Given the description of an element on the screen output the (x, y) to click on. 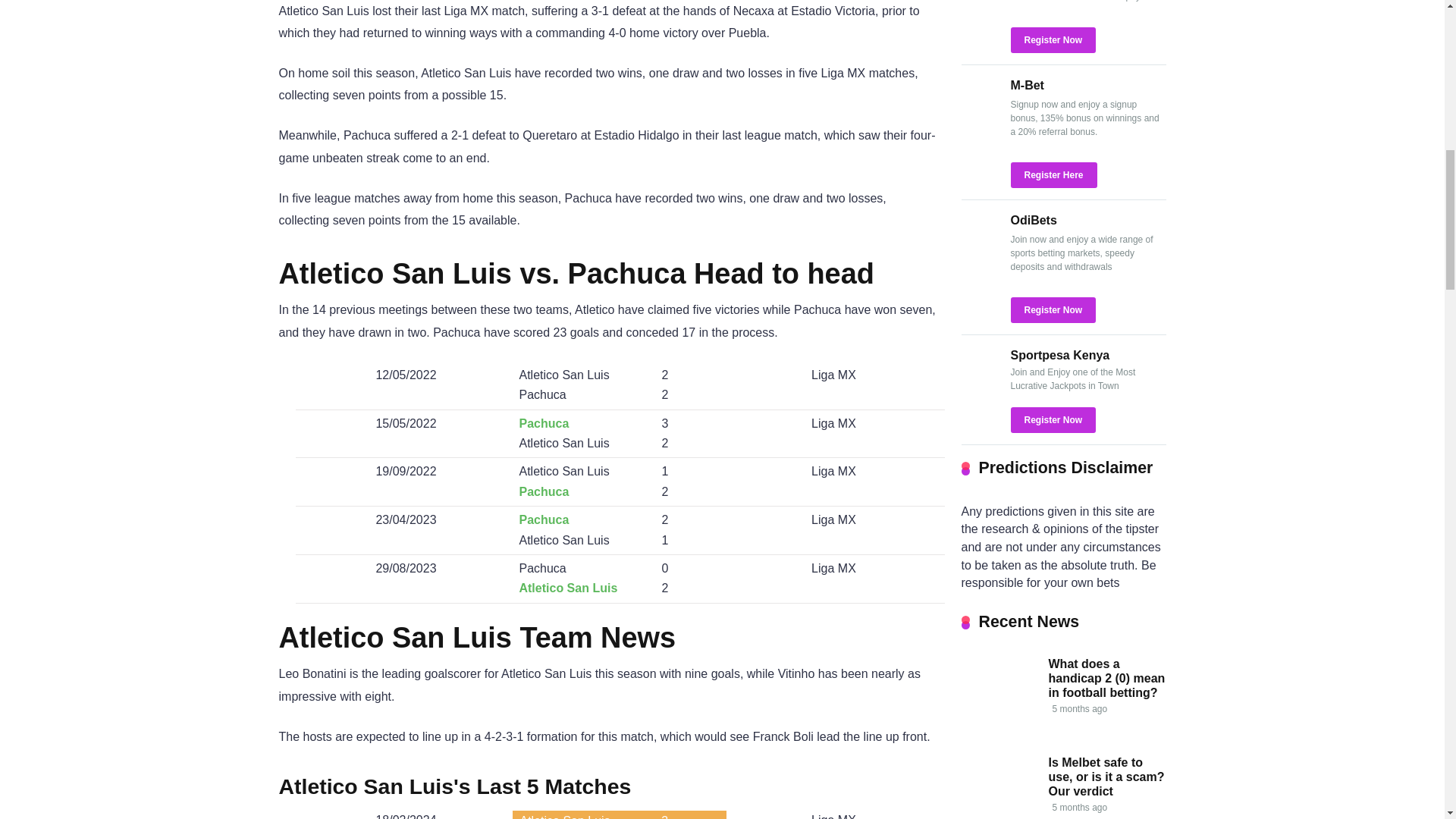
OdiBets (979, 248)
Register Here (1053, 175)
M-Bet (1026, 84)
Register Now (1053, 40)
Register Now (1053, 309)
OdiBets (1033, 219)
M-Bet (979, 113)
Register Now (1053, 40)
M-Bet (1026, 84)
